Given the description of an element on the screen output the (x, y) to click on. 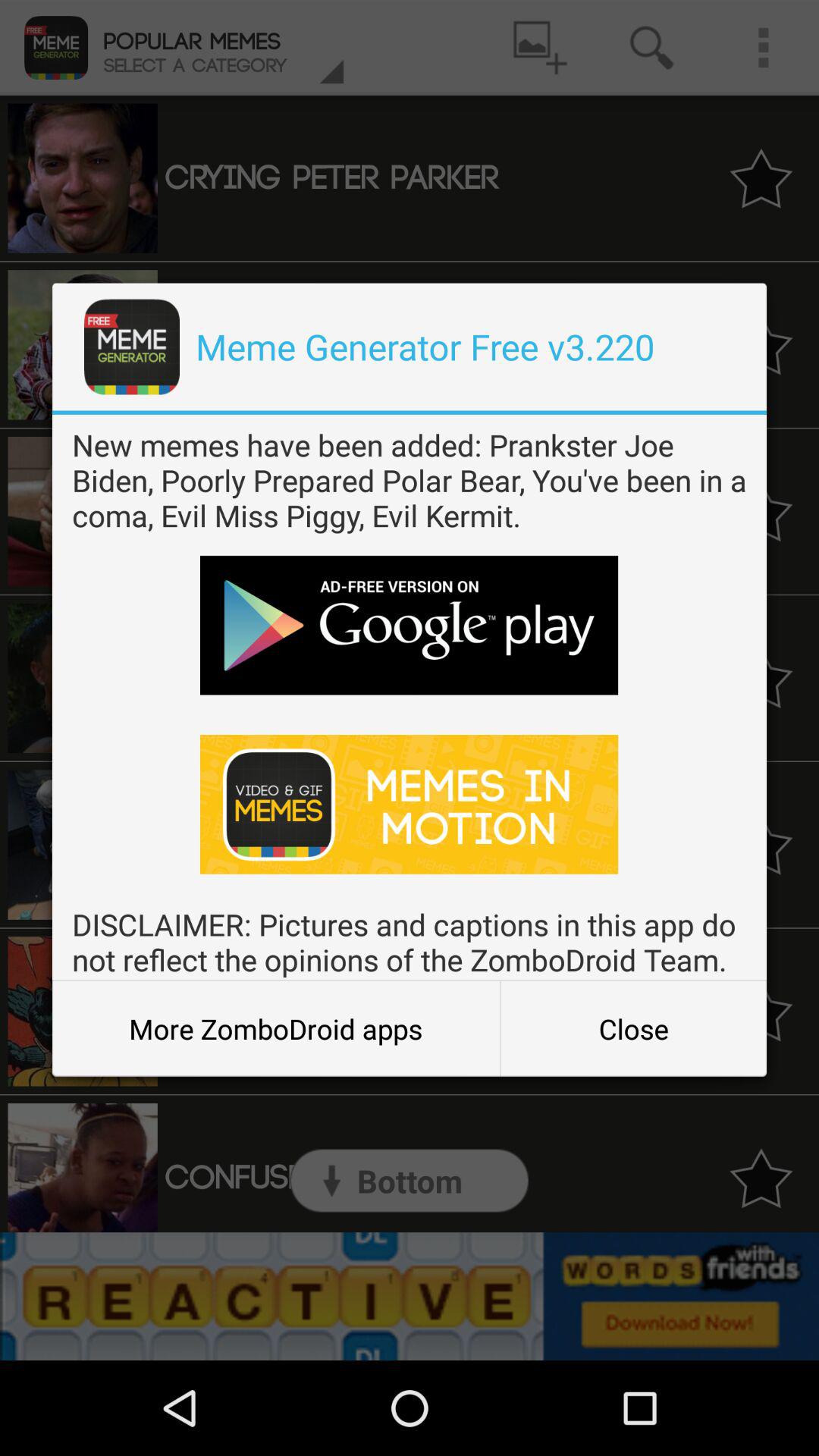
download memes in motion (409, 804)
